Given the description of an element on the screen output the (x, y) to click on. 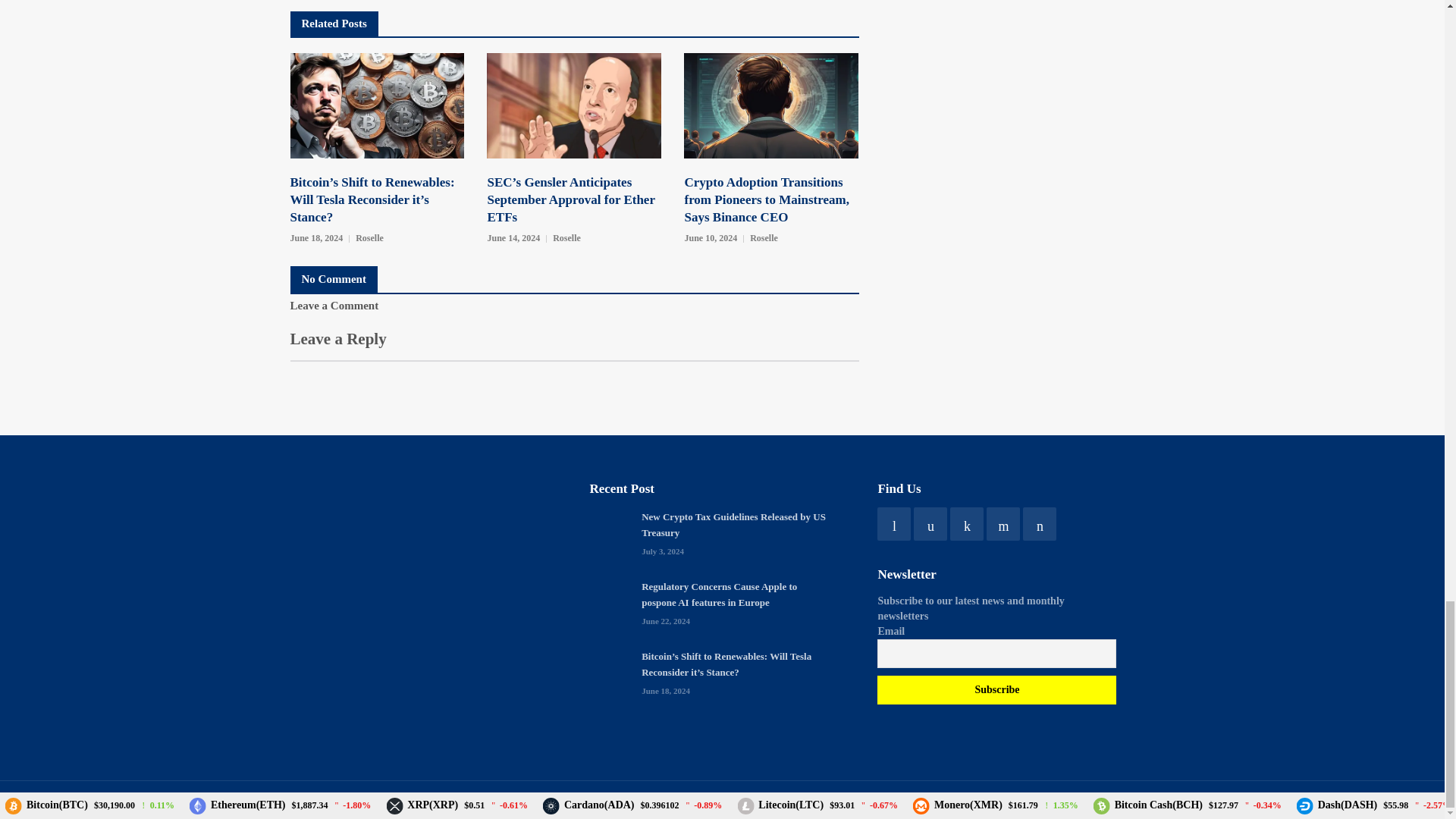
June 10, 2024 3:57 (710, 238)
Posts by Roselle (369, 237)
Subscribe (996, 689)
Posts by Roselle (566, 237)
Posts by Roselle (763, 237)
June 18, 2024 7:06 (315, 238)
June 14, 2024 3:26 (513, 238)
